Given the description of an element on the screen output the (x, y) to click on. 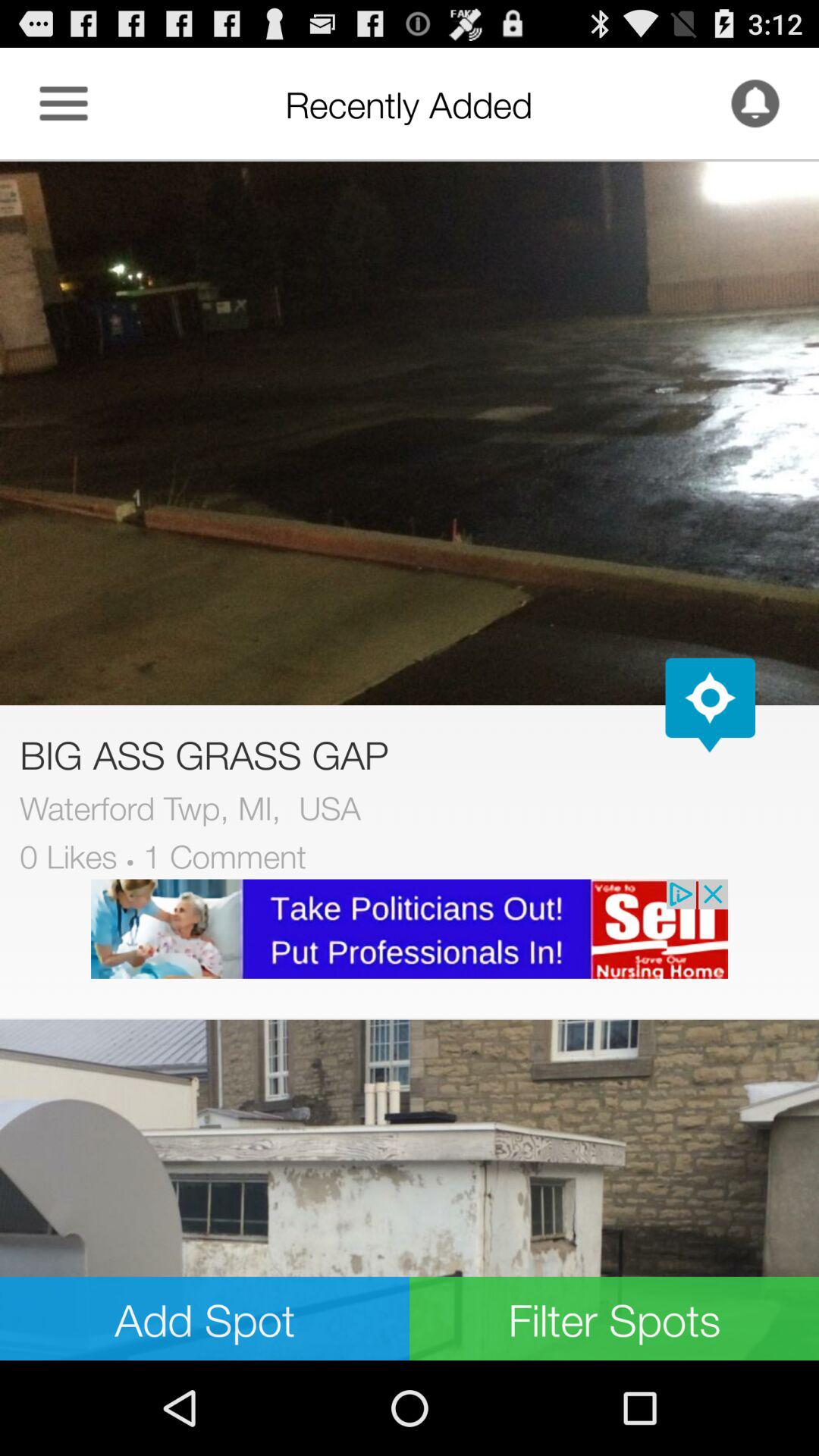
turn on notifications (755, 103)
